Given the description of an element on the screen output the (x, y) to click on. 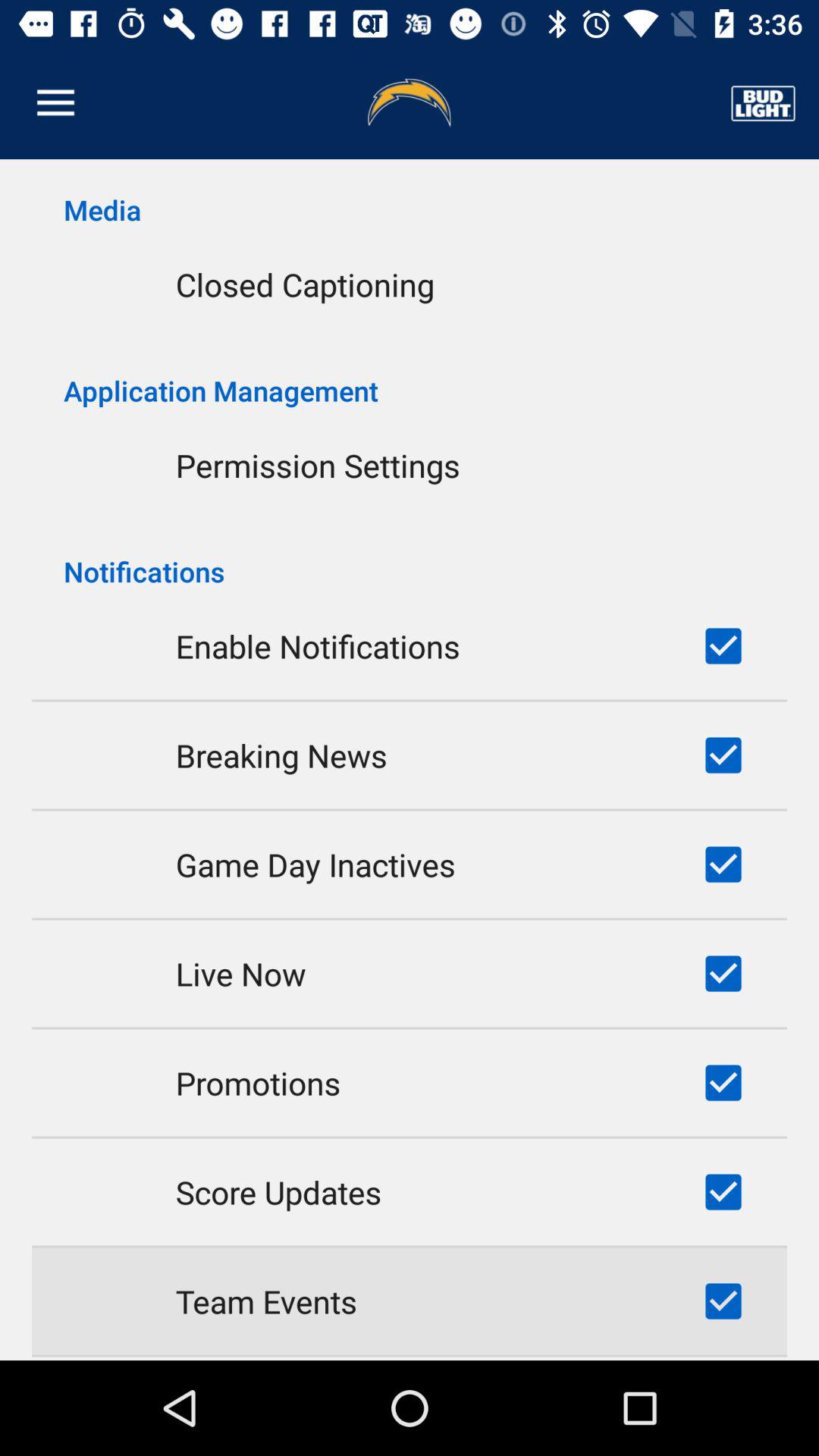
select the check box beside live now (723, 974)
